Given the description of an element on the screen output the (x, y) to click on. 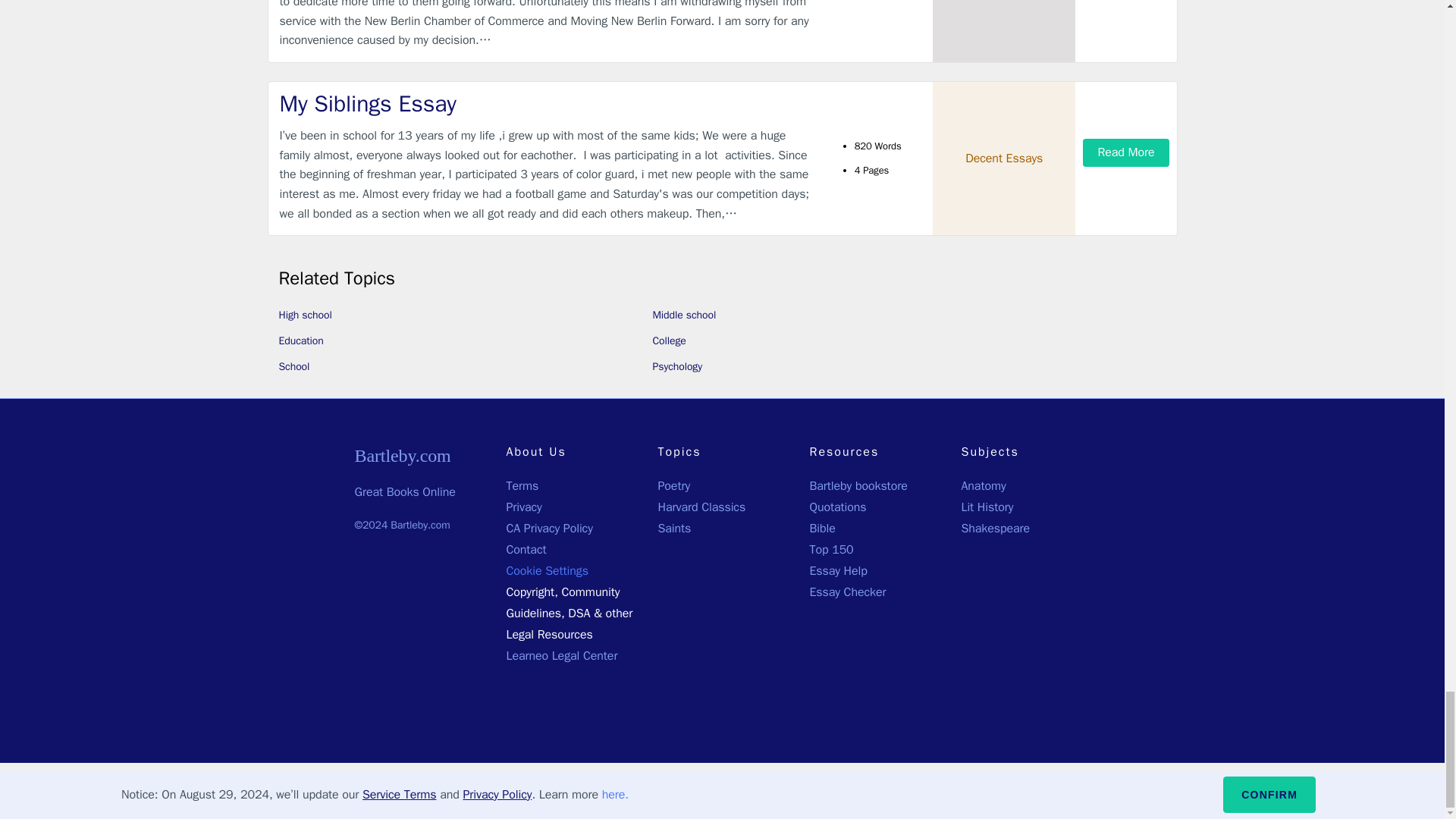
College (668, 340)
Education (301, 340)
High school (305, 314)
School (294, 366)
Middle school (684, 314)
Psychology (676, 366)
